Given the description of an element on the screen output the (x, y) to click on. 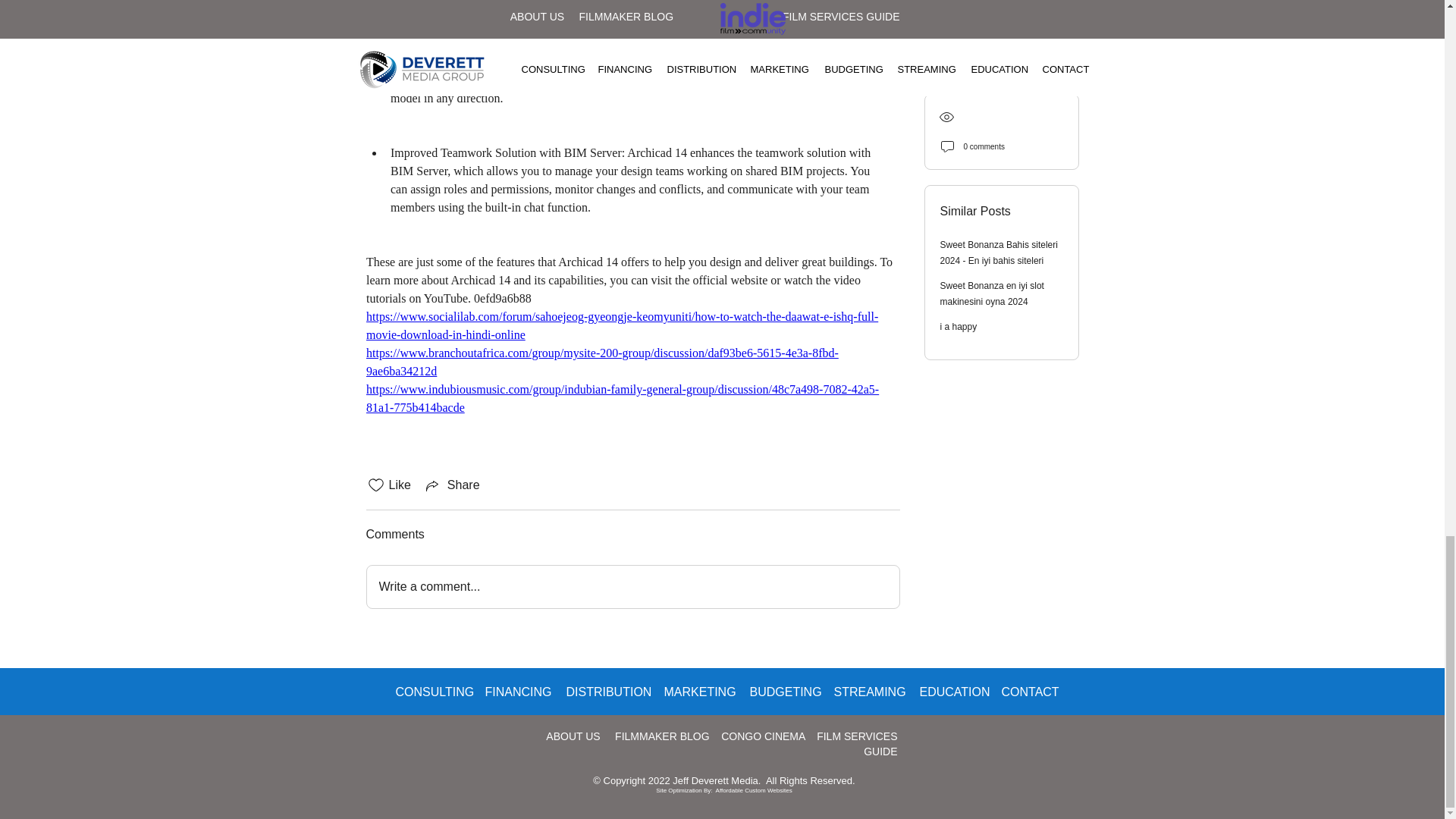
CONTACT (1024, 691)
EDUCATION (949, 691)
MARKETING (695, 691)
Write a comment... (632, 586)
BUDGETING (780, 691)
FINANCING (513, 691)
Share (451, 484)
STREAMING (864, 691)
DISTRIBUTION (603, 691)
CONSULTING (428, 691)
